Given the description of an element on the screen output the (x, y) to click on. 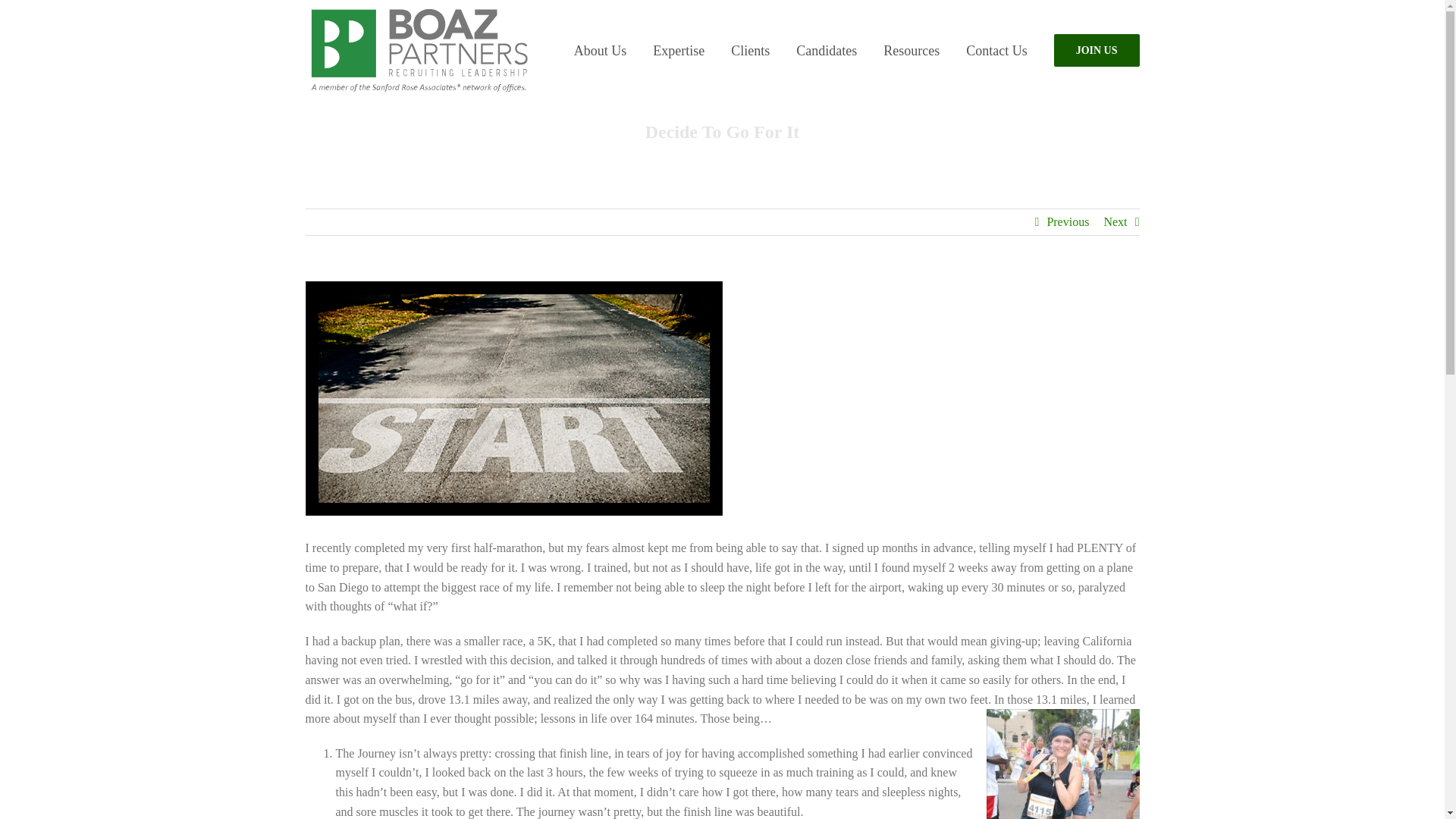
Previous (1067, 222)
Next (1114, 222)
